Given the description of an element on the screen output the (x, y) to click on. 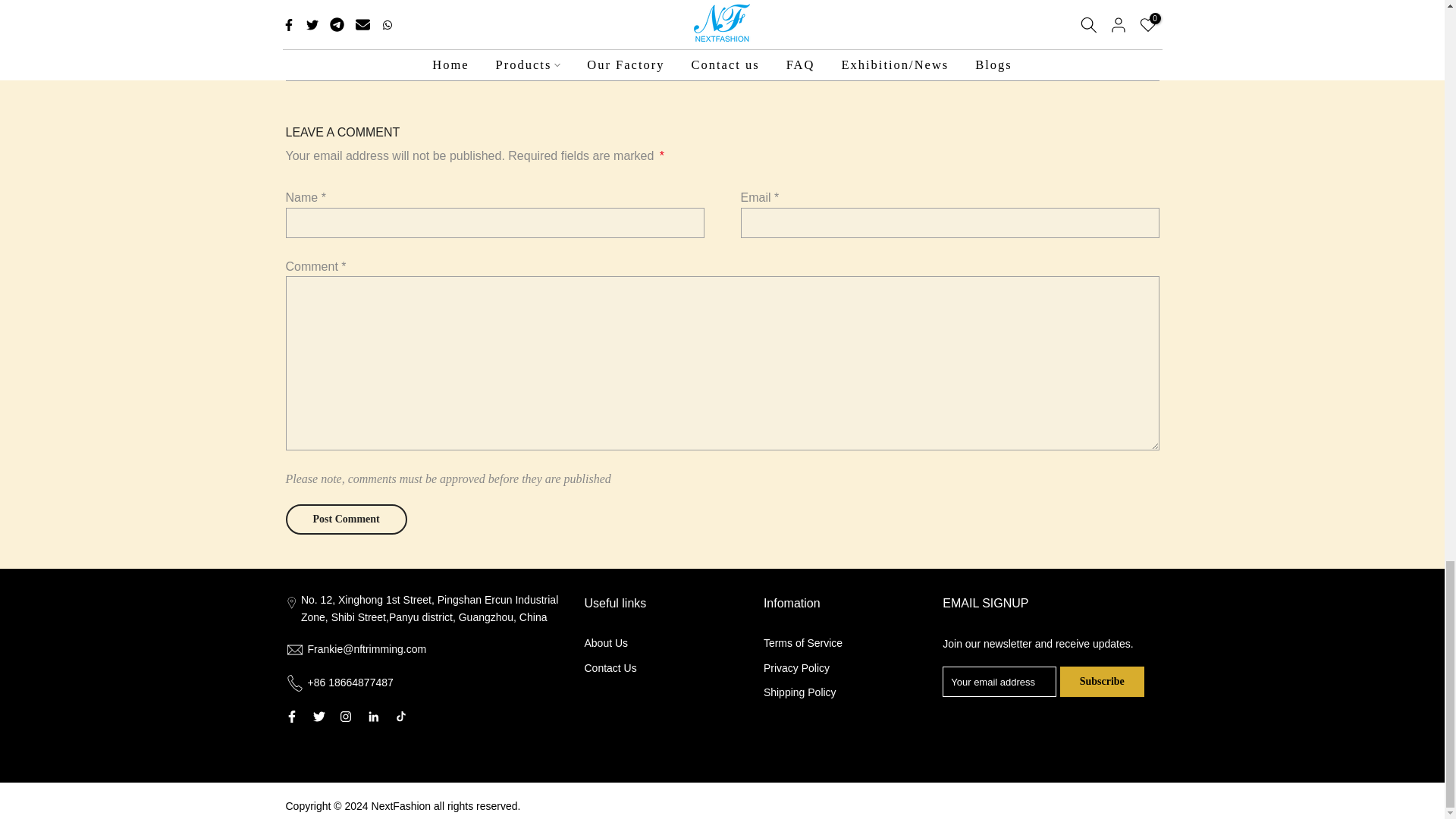
Post Comment (345, 519)
